Given the description of an element on the screen output the (x, y) to click on. 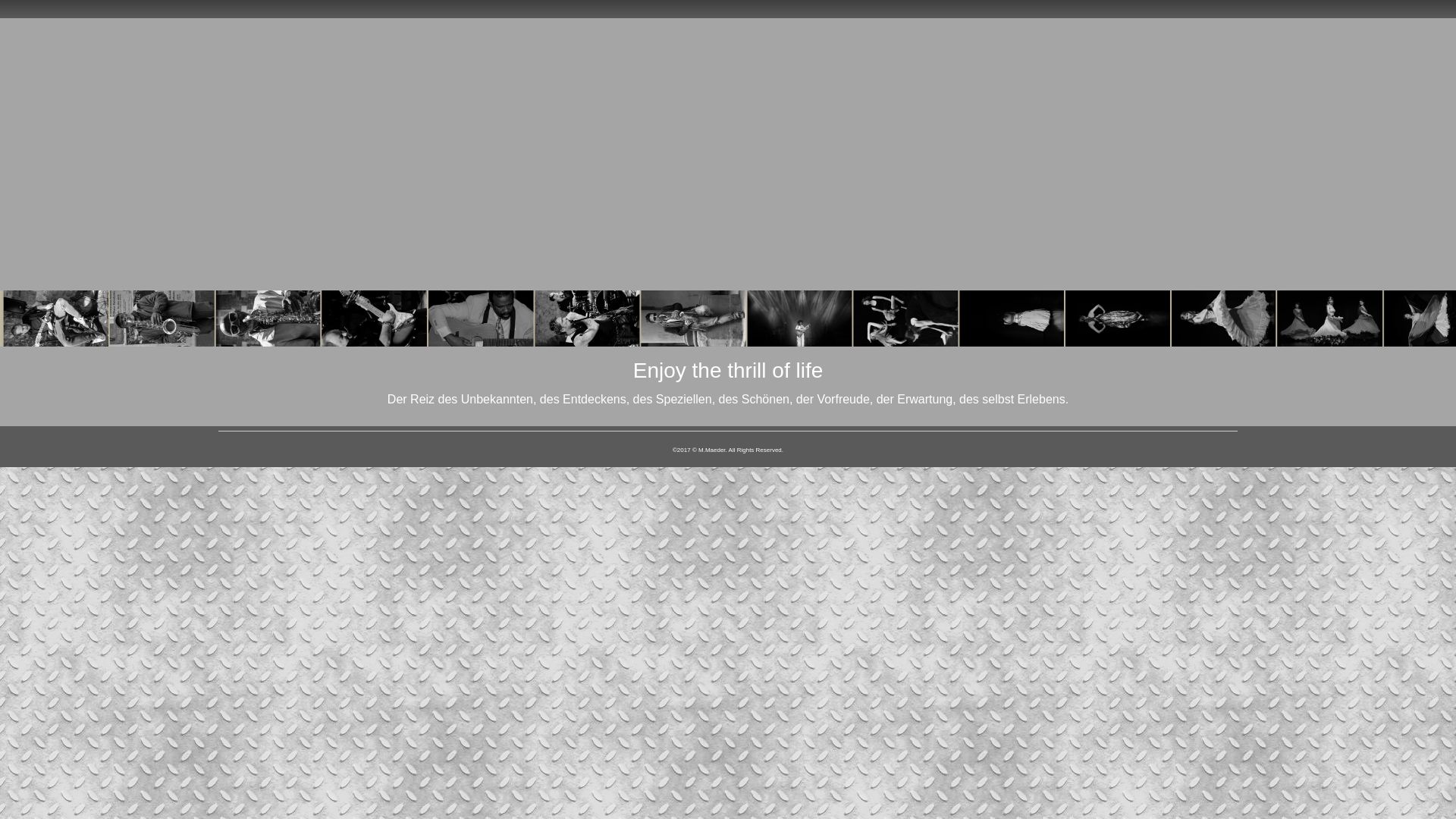
Links Element type: text (66, 252)
Start Element type: text (66, 173)
>
Werke Element type: text (66, 199)
